Given the description of an element on the screen output the (x, y) to click on. 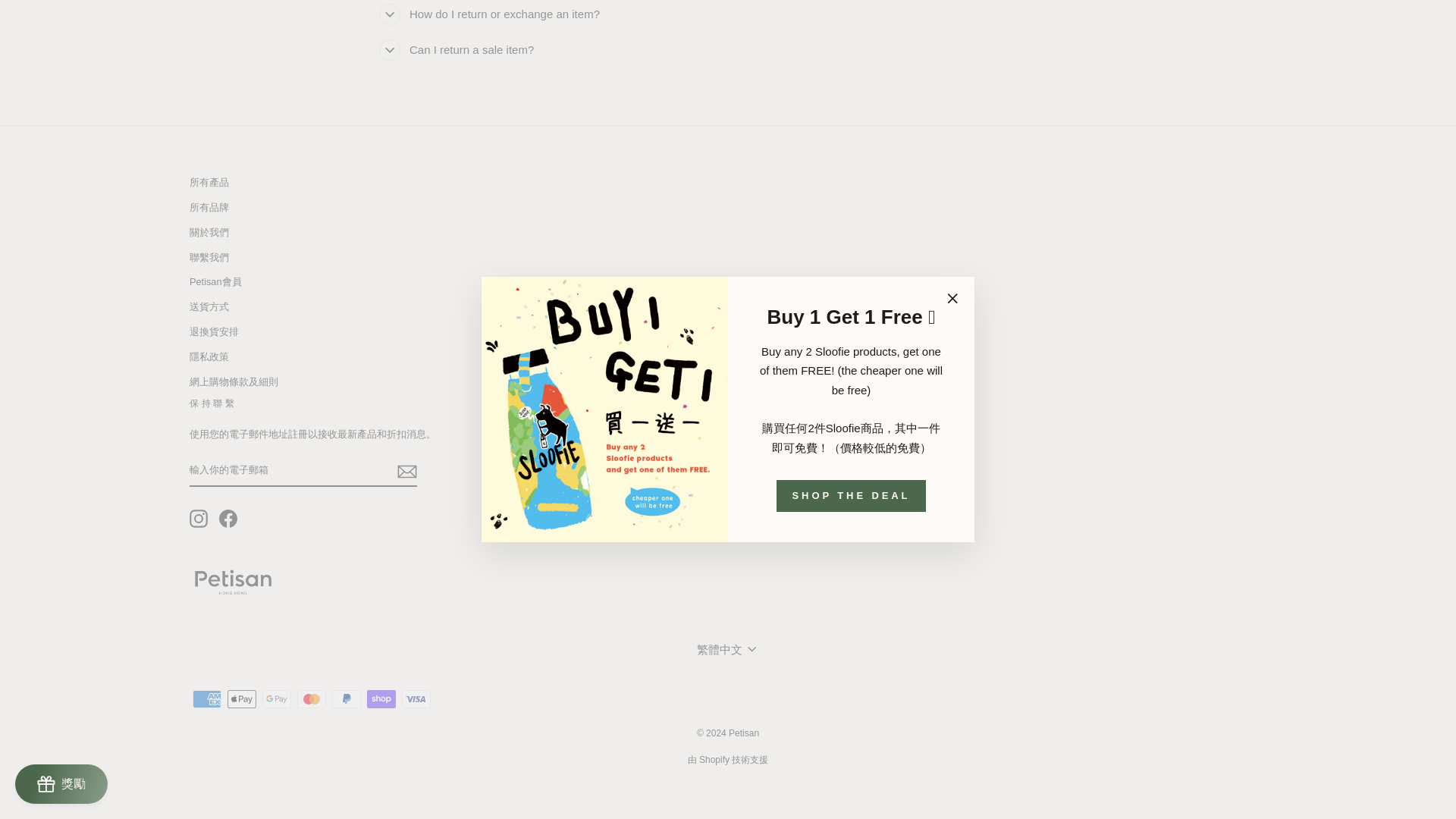
Visa (415, 699)
Apple Pay (241, 699)
Mastercard (311, 699)
American Express (206, 699)
Shop Pay (381, 699)
Google Pay (276, 699)
PayPal (346, 699)
